Given the description of an element on the screen output the (x, y) to click on. 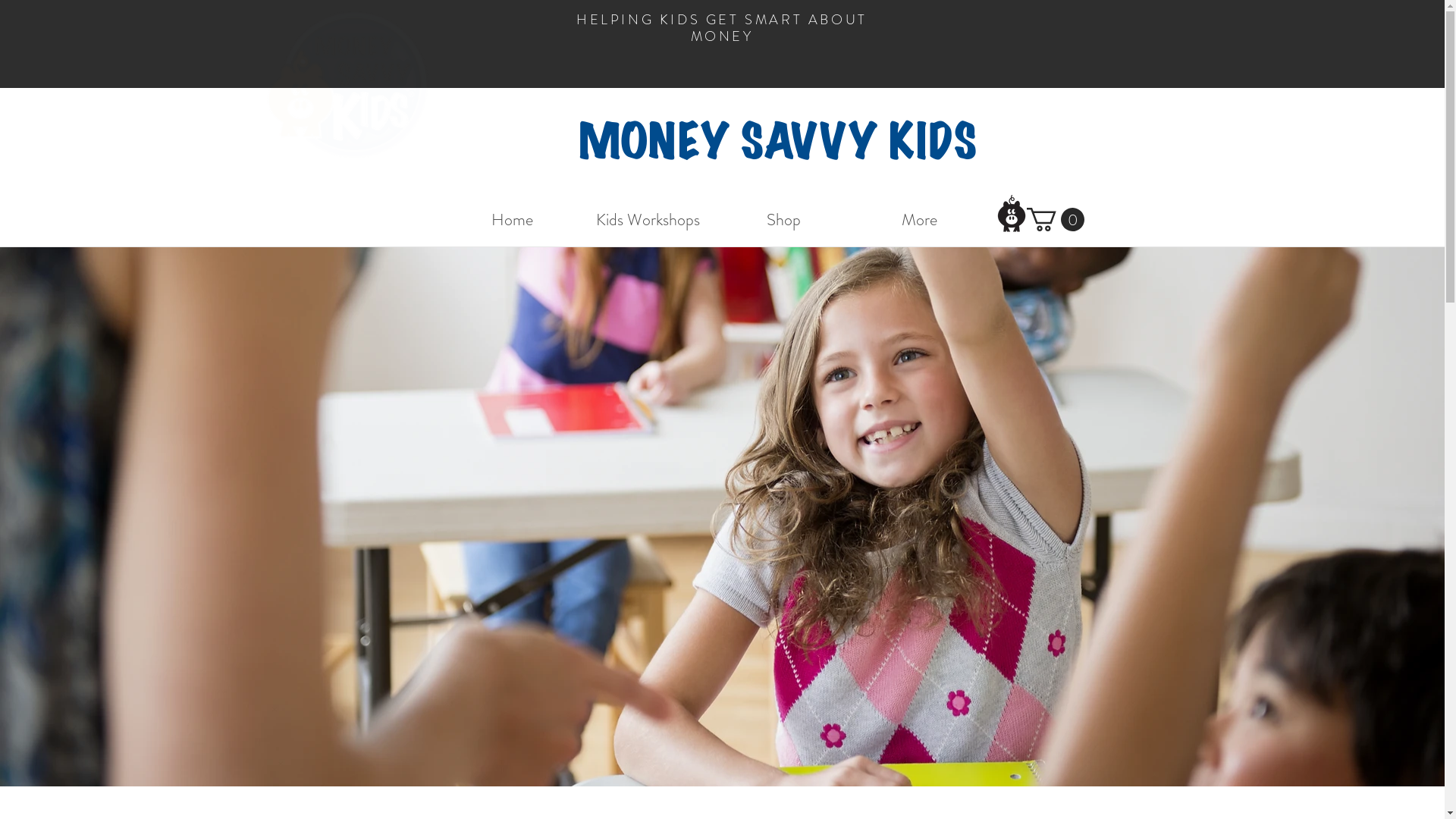
Home Element type: text (512, 219)
MONEY SAVVY KIDS Element type: text (776, 142)
0 Element type: text (1055, 219)
Shop Element type: text (783, 219)
Kids Workshops Element type: text (647, 219)
